Given the description of an element on the screen output the (x, y) to click on. 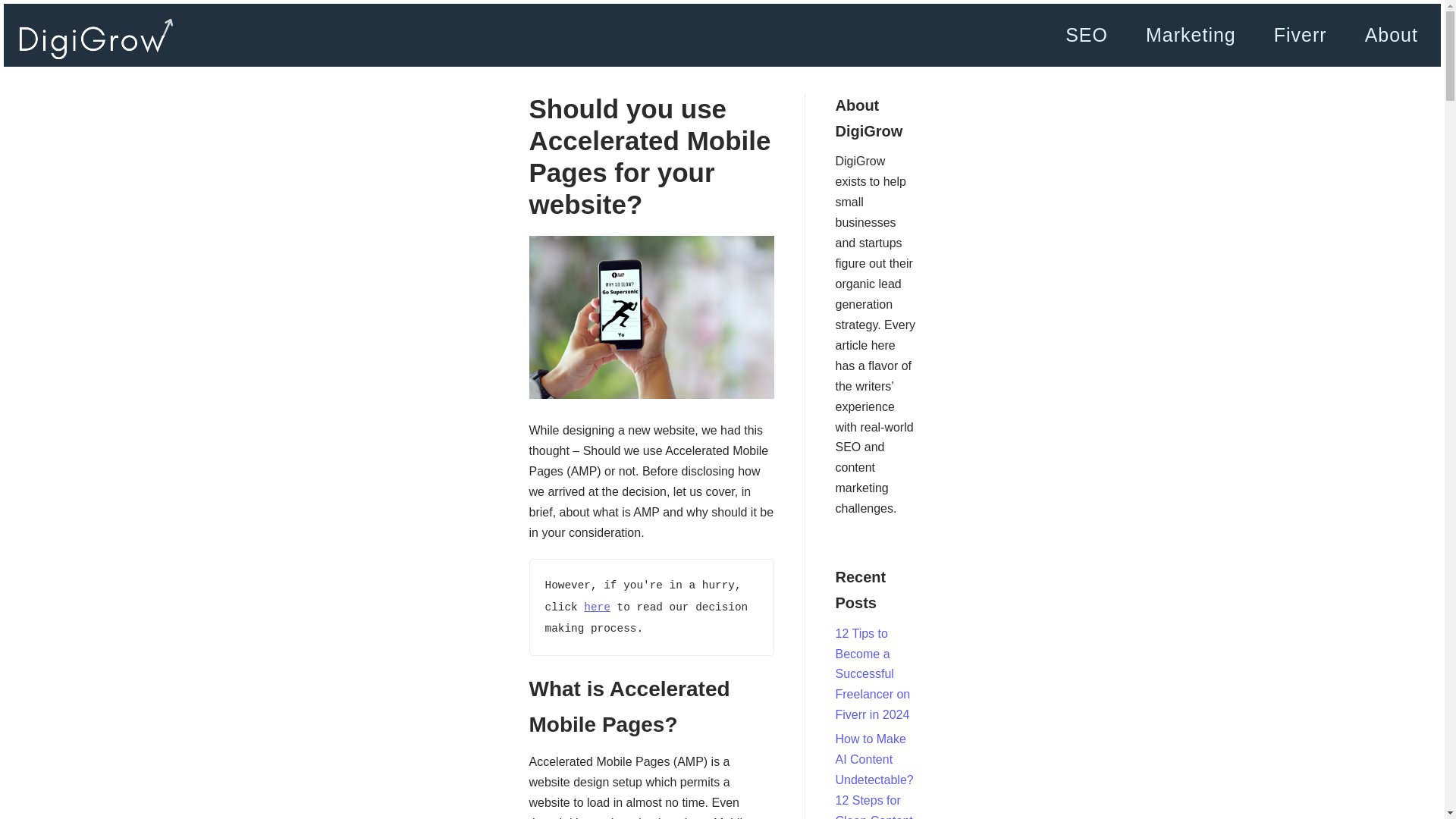
here (596, 607)
Fiverr (1300, 35)
SEO (1086, 35)
12 Tips to Become a Successful Freelancer on Fiverr in 2024 (873, 674)
Skip to content (15, 7)
About (1390, 35)
Marketing (1190, 35)
